Given the description of an element on the screen output the (x, y) to click on. 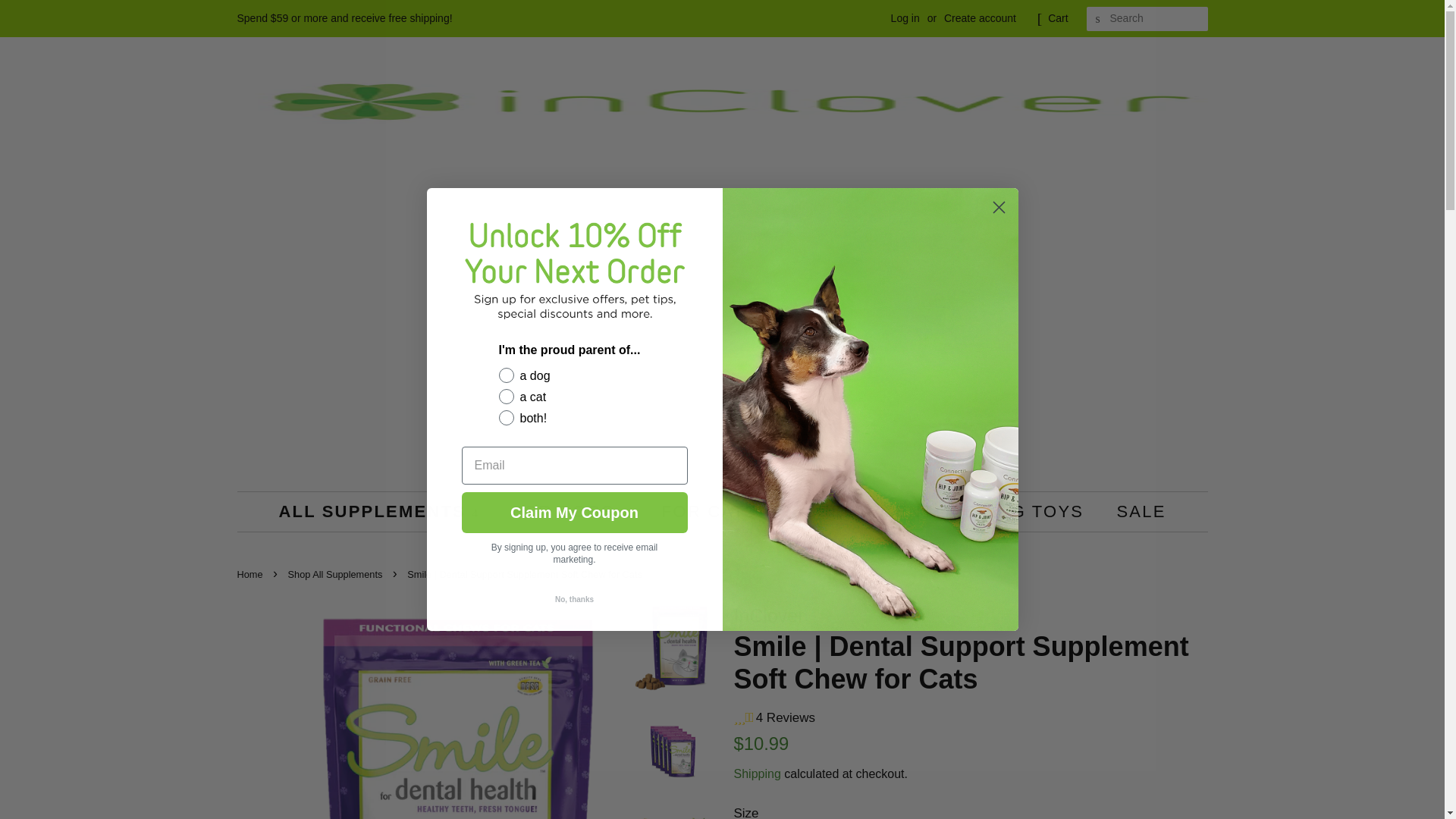
Cart (1057, 18)
Log in (905, 18)
Back to the frontpage (250, 573)
ALL SUPPLEMENTS (386, 511)
Create account (979, 18)
SEARCH (1097, 18)
